Given the description of an element on the screen output the (x, y) to click on. 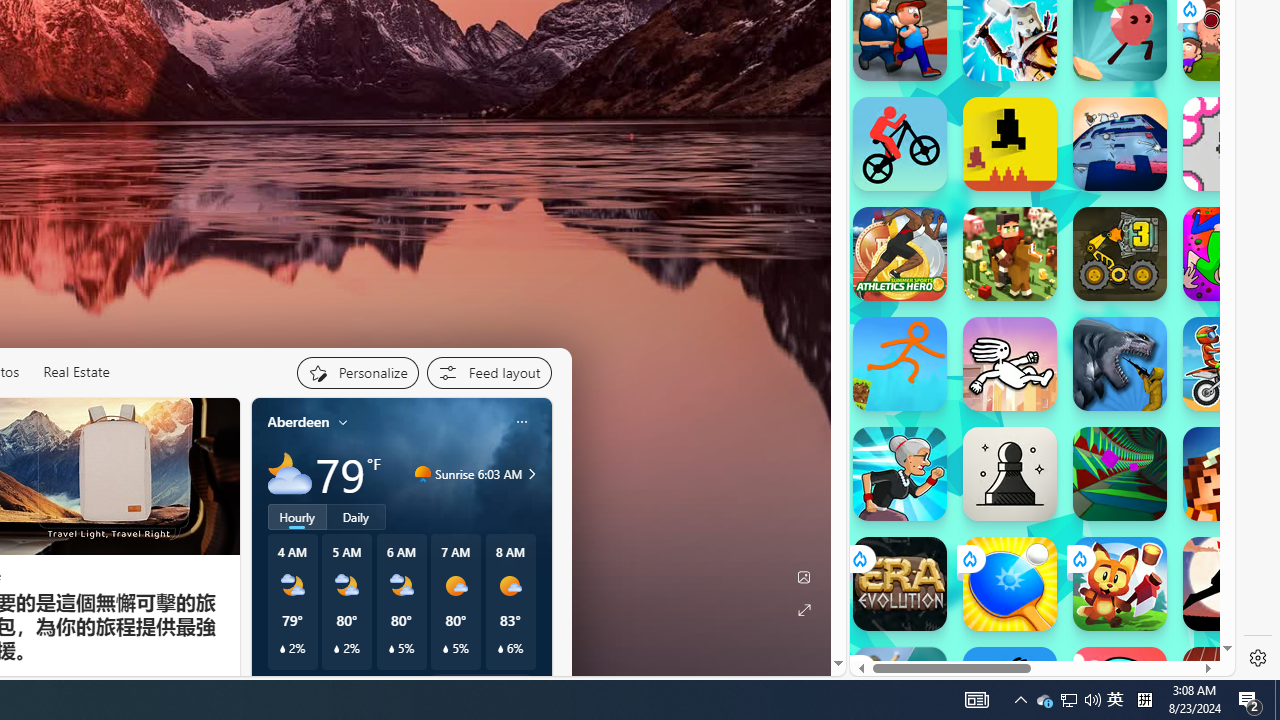
Dreadhead Parkour Dreadhead Parkour (1009, 363)
Stickman Bike Stickman Bike (899, 143)
Big Tower Tiny Square Big Tower Tiny Square (1119, 143)
Moto X3M Moto X3M (1229, 363)
Hills of Steel Hills of Steel poki.com (943, 278)
Games for Girls (1042, 30)
The Speed Ninja The Speed Ninja (1229, 583)
Daily (356, 516)
Mostly cloudy (289, 474)
Lurkers.io Lurkers.io (1229, 473)
Combat Reloaded (1092, 334)
Classic Chess (1009, 473)
Stickman Bike (899, 143)
